Given the description of an element on the screen output the (x, y) to click on. 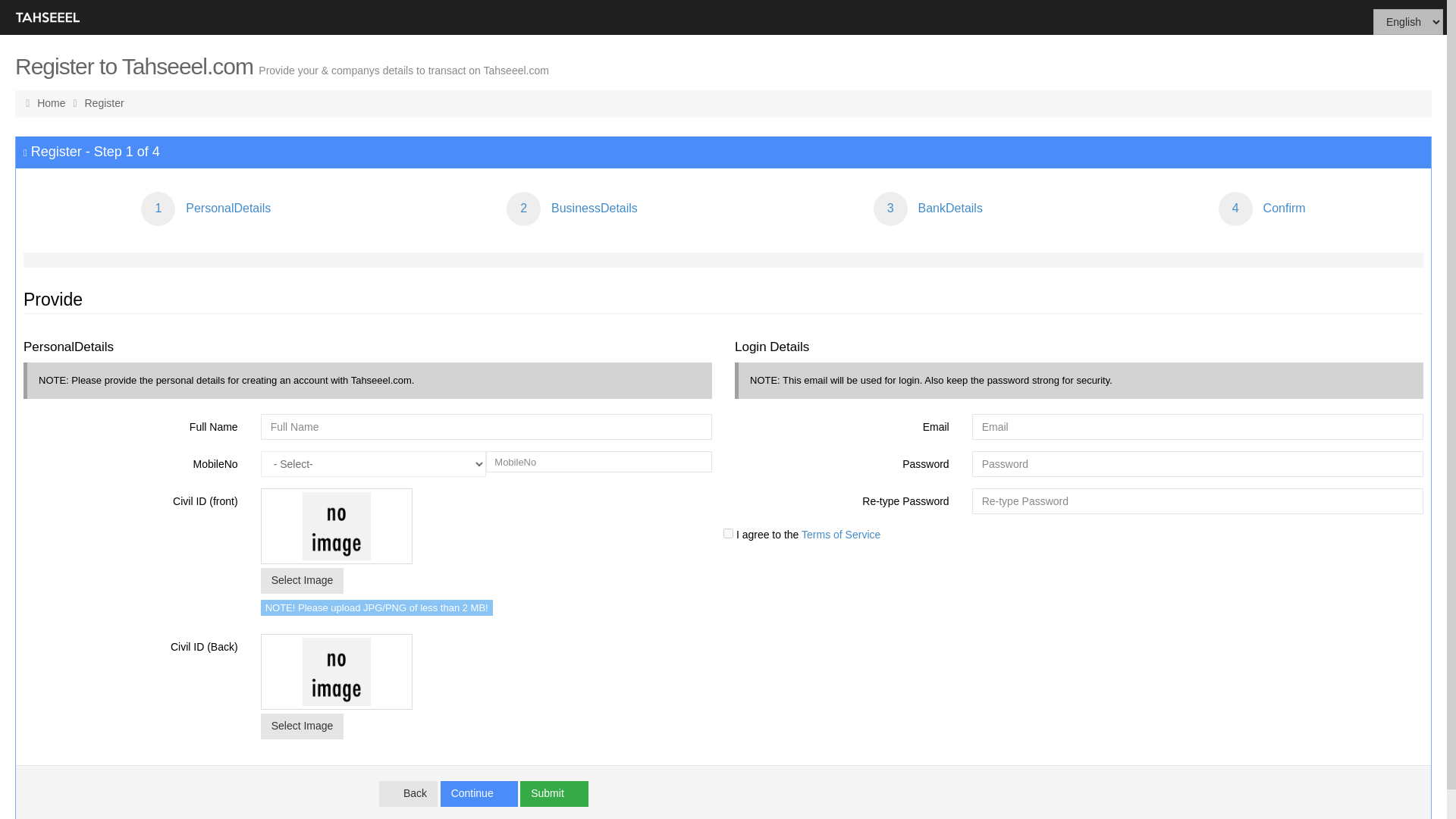
Continue (479, 793)
Submit (553, 793)
3 BankDetails (927, 208)
Home (52, 102)
Back (408, 793)
Terms of Service (838, 534)
1 PersonalDetails (205, 208)
2 BusinessDetails (571, 208)
Register (103, 102)
on (728, 533)
4 Confirm (1261, 208)
